Given the description of an element on the screen output the (x, y) to click on. 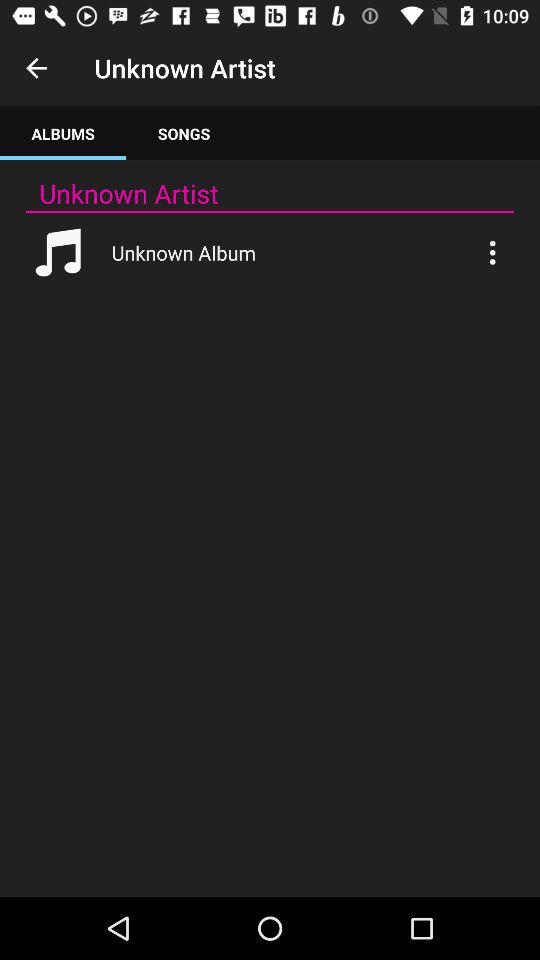
open the icon below unknown artist (183, 133)
